Given the description of an element on the screen output the (x, y) to click on. 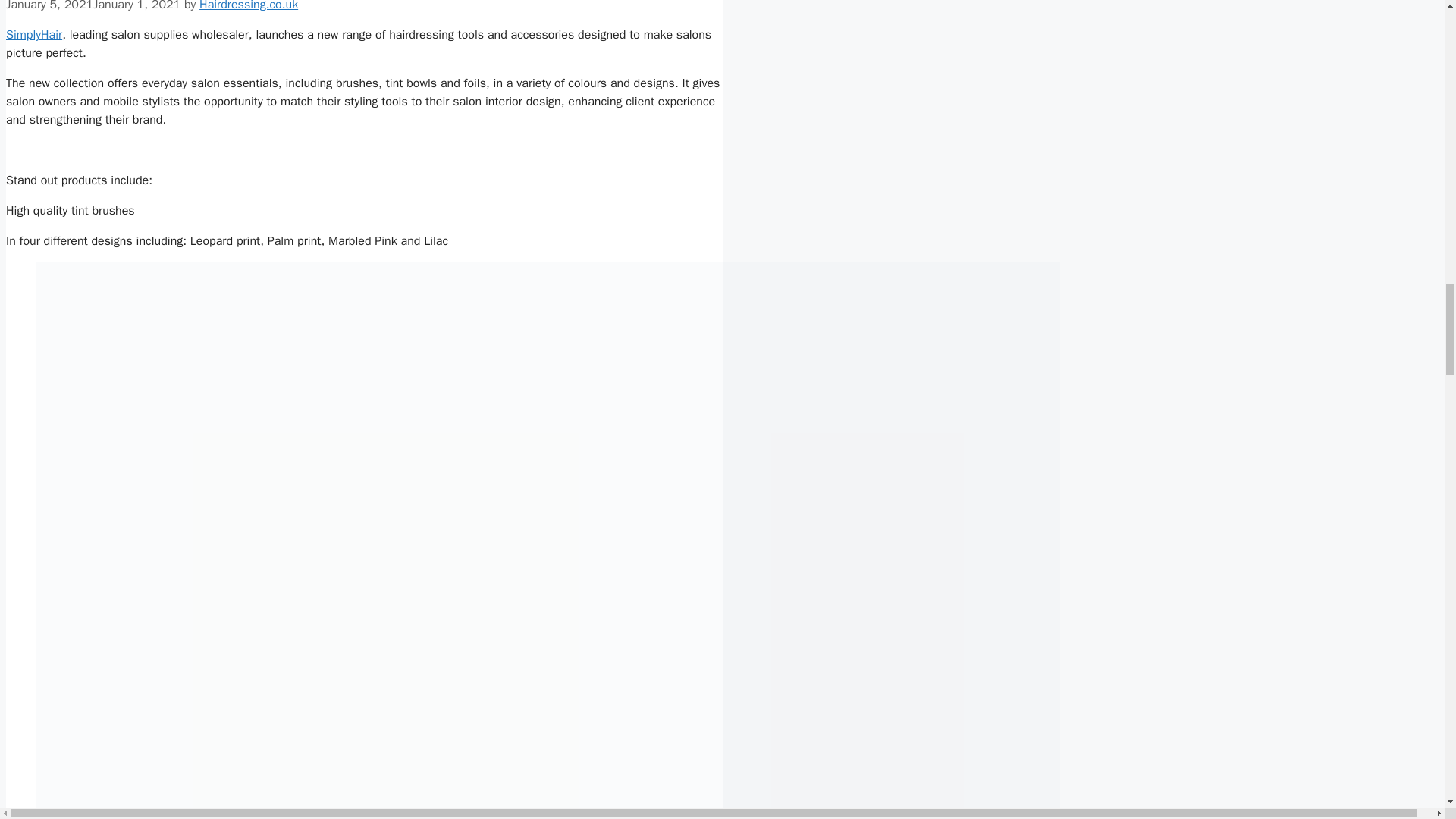
View all posts by Hairdressing.co.uk (248, 6)
